Given the description of an element on the screen output the (x, y) to click on. 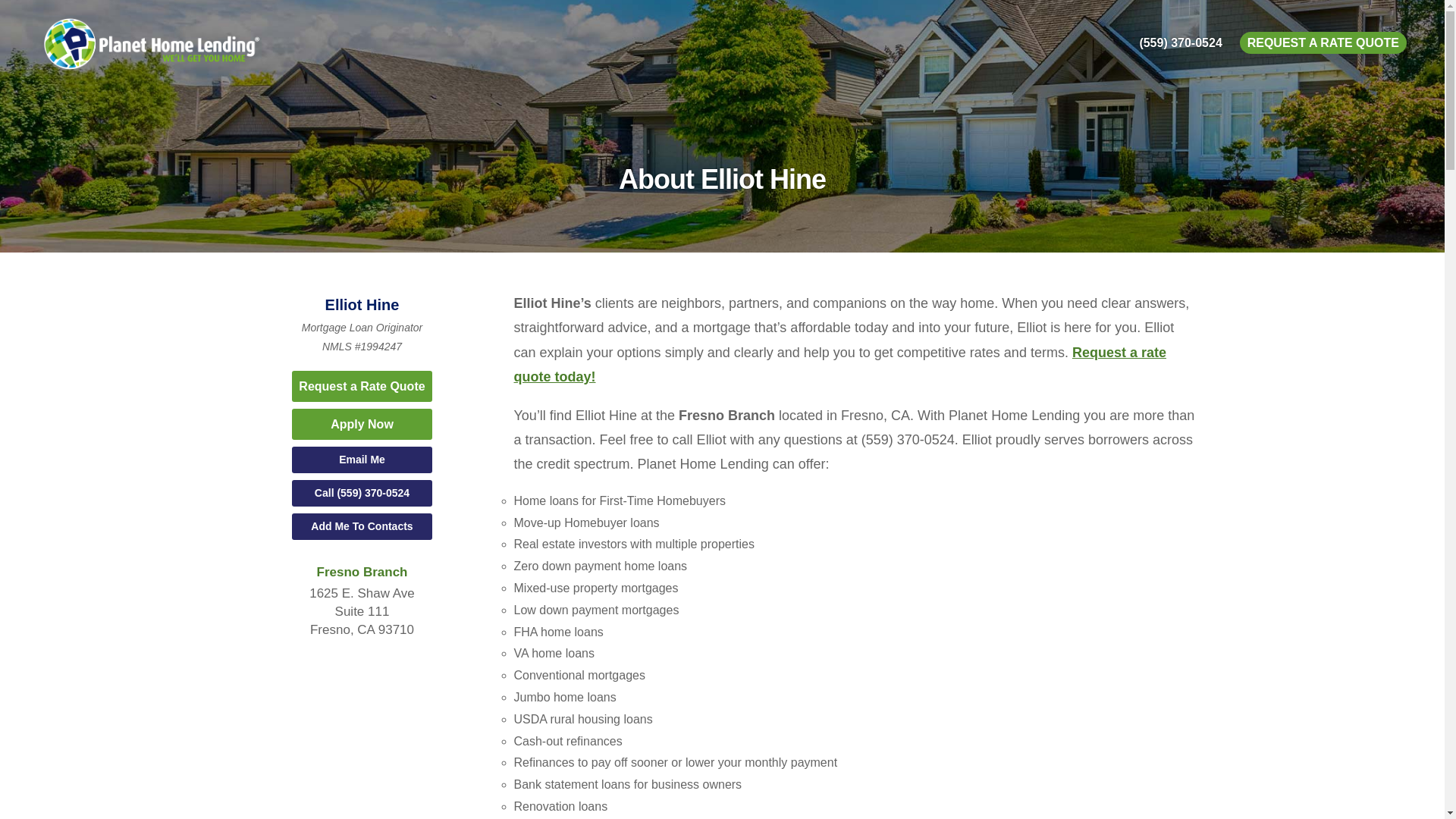
Email Me (362, 459)
Fresno Branch (362, 572)
Request a rate quote today! (839, 364)
Add Me To Contacts (362, 525)
Apply Now (362, 423)
REQUEST A RATE QUOTE (1323, 42)
Request a Rate Quote (362, 386)
